Given the description of an element on the screen output the (x, y) to click on. 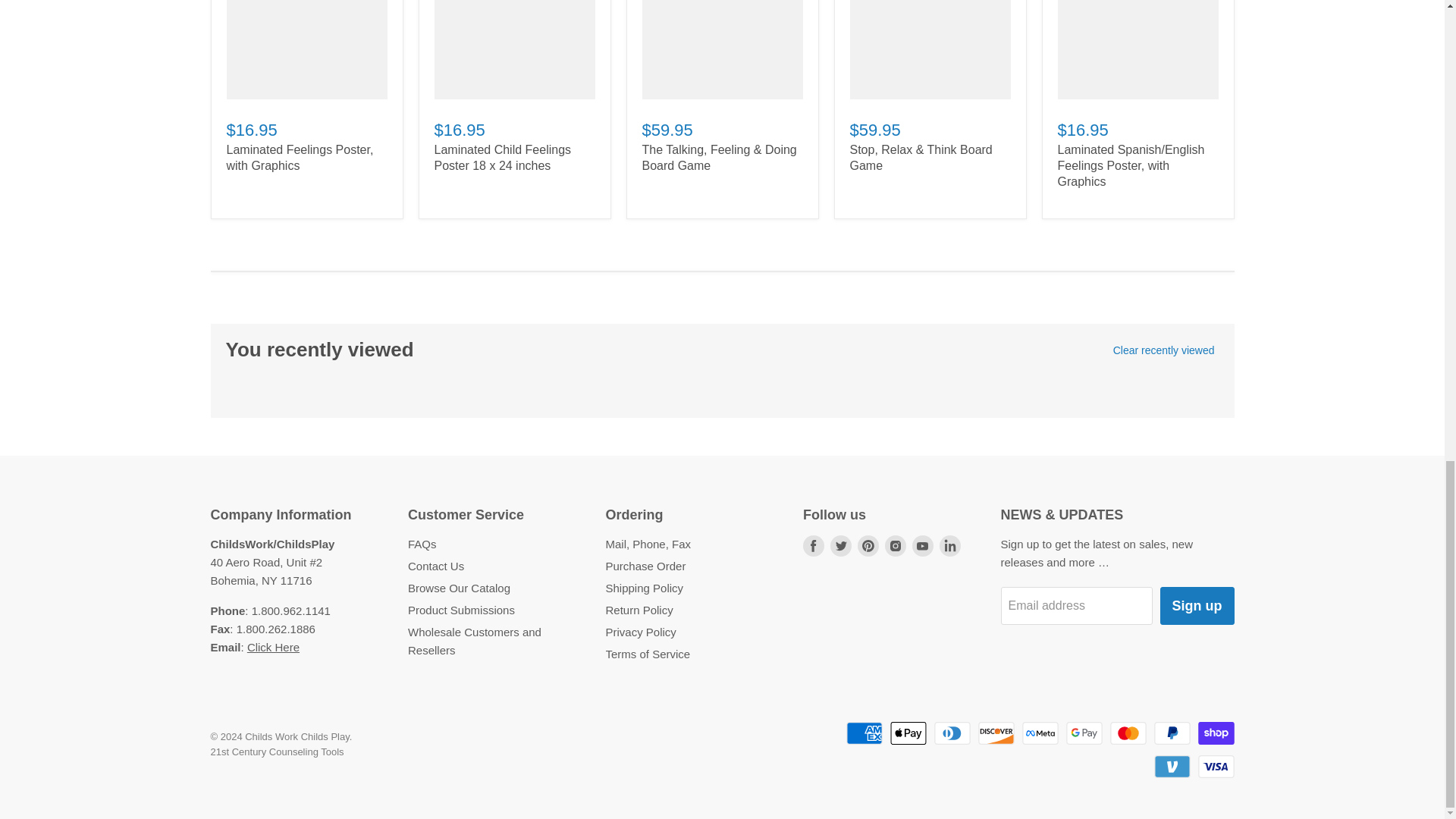
Facebook (813, 544)
Twitter (840, 544)
Instagram (895, 544)
Pinterest (868, 544)
American Express (863, 732)
LinkedIn (949, 544)
Contact Us (273, 645)
Youtube (922, 544)
